Given the description of an element on the screen output the (x, y) to click on. 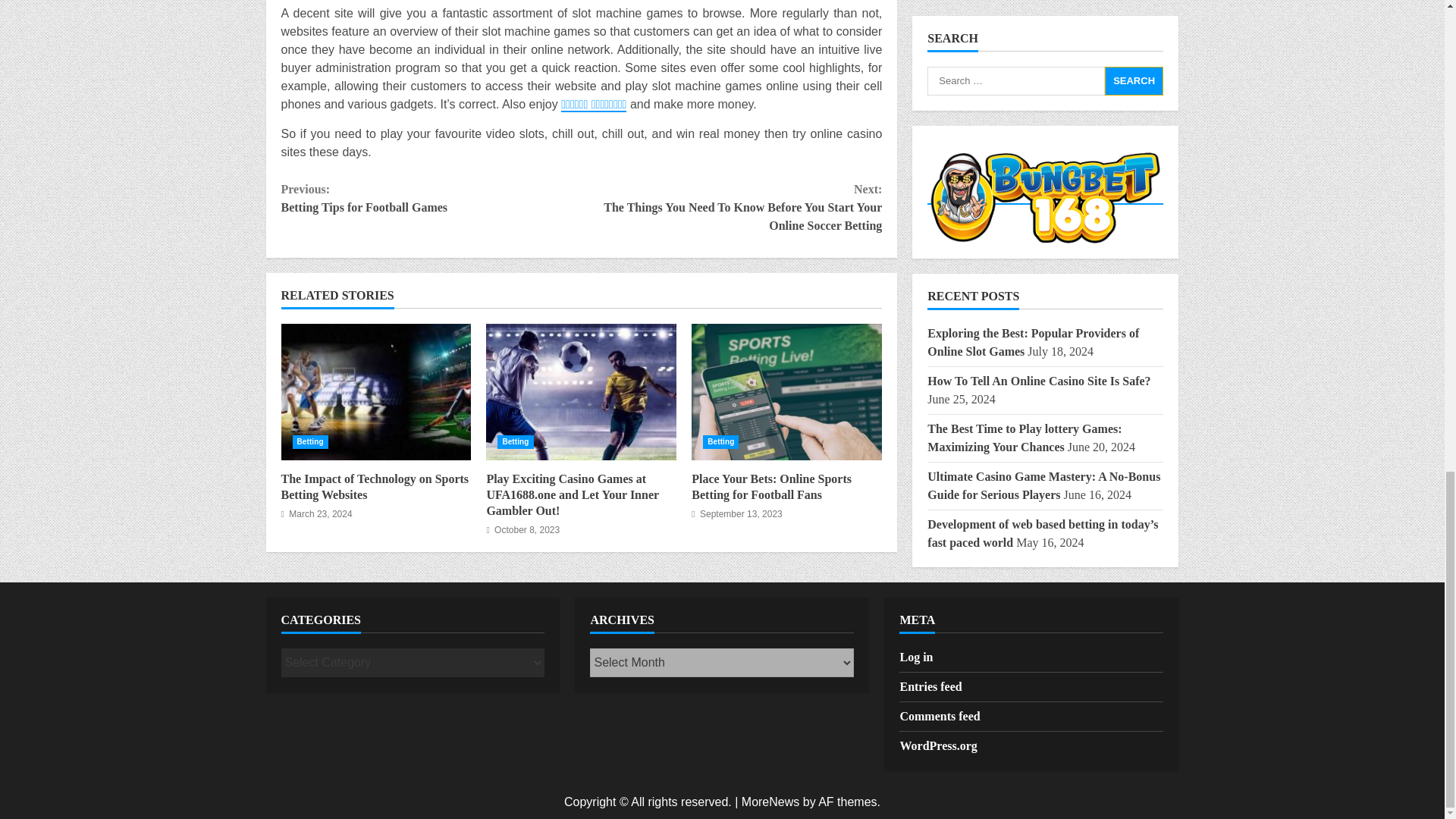
Betting (720, 441)
Place Your Bets: Online Sports Betting for Football Fans (786, 391)
Betting (310, 441)
Betting (430, 198)
The Impact of Technology on Sports Betting Websites (514, 441)
The Impact of Technology on Sports Betting Websites (374, 486)
Place Your Bets: Online Sports Betting for Football Fans (375, 391)
